Given the description of an element on the screen output the (x, y) to click on. 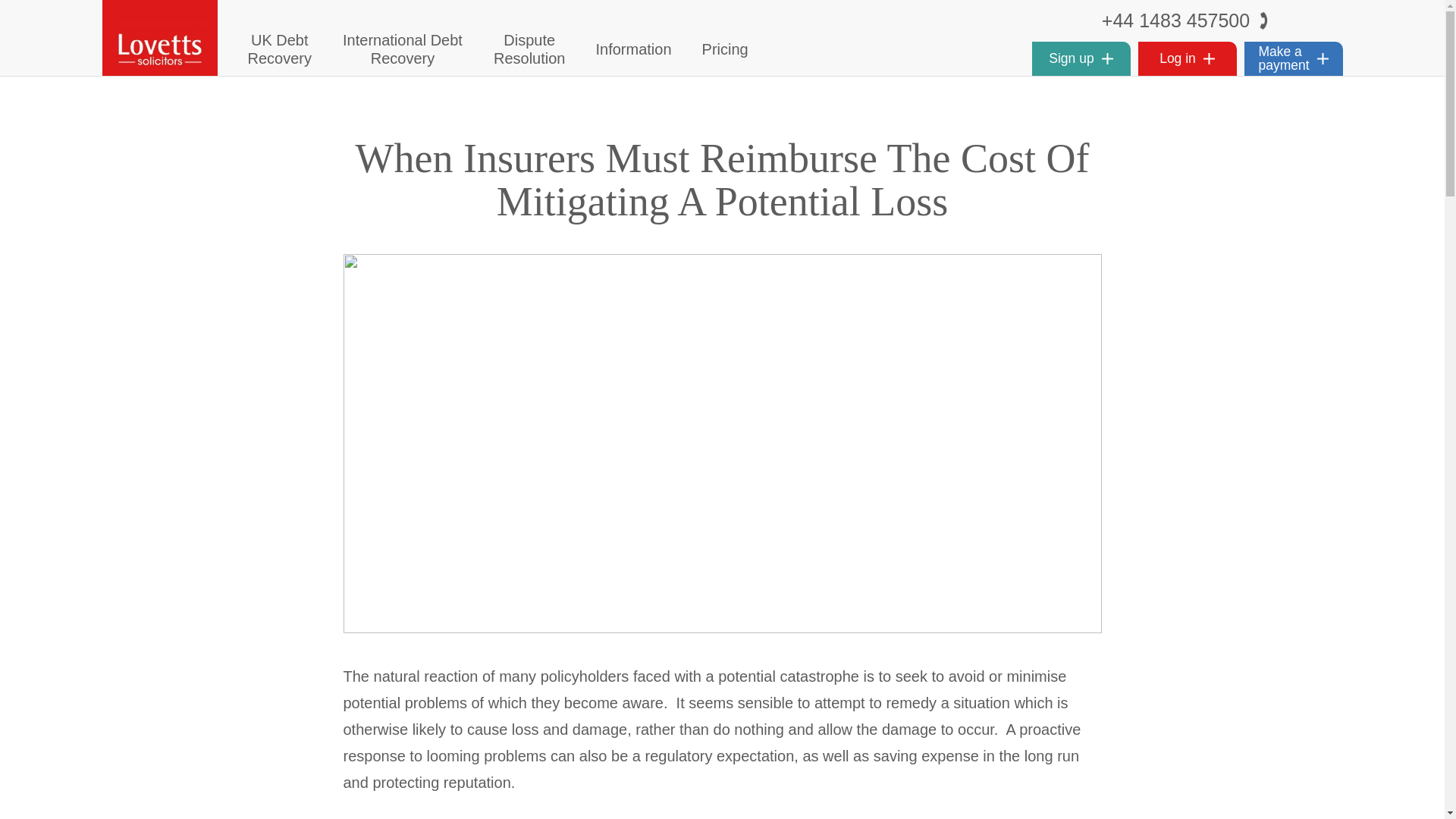
Make a payment (1292, 58)
International Debt Recovery (529, 48)
Pricing (402, 48)
Information (724, 48)
Sign up (633, 48)
Log in (1079, 58)
